Given the description of an element on the screen output the (x, y) to click on. 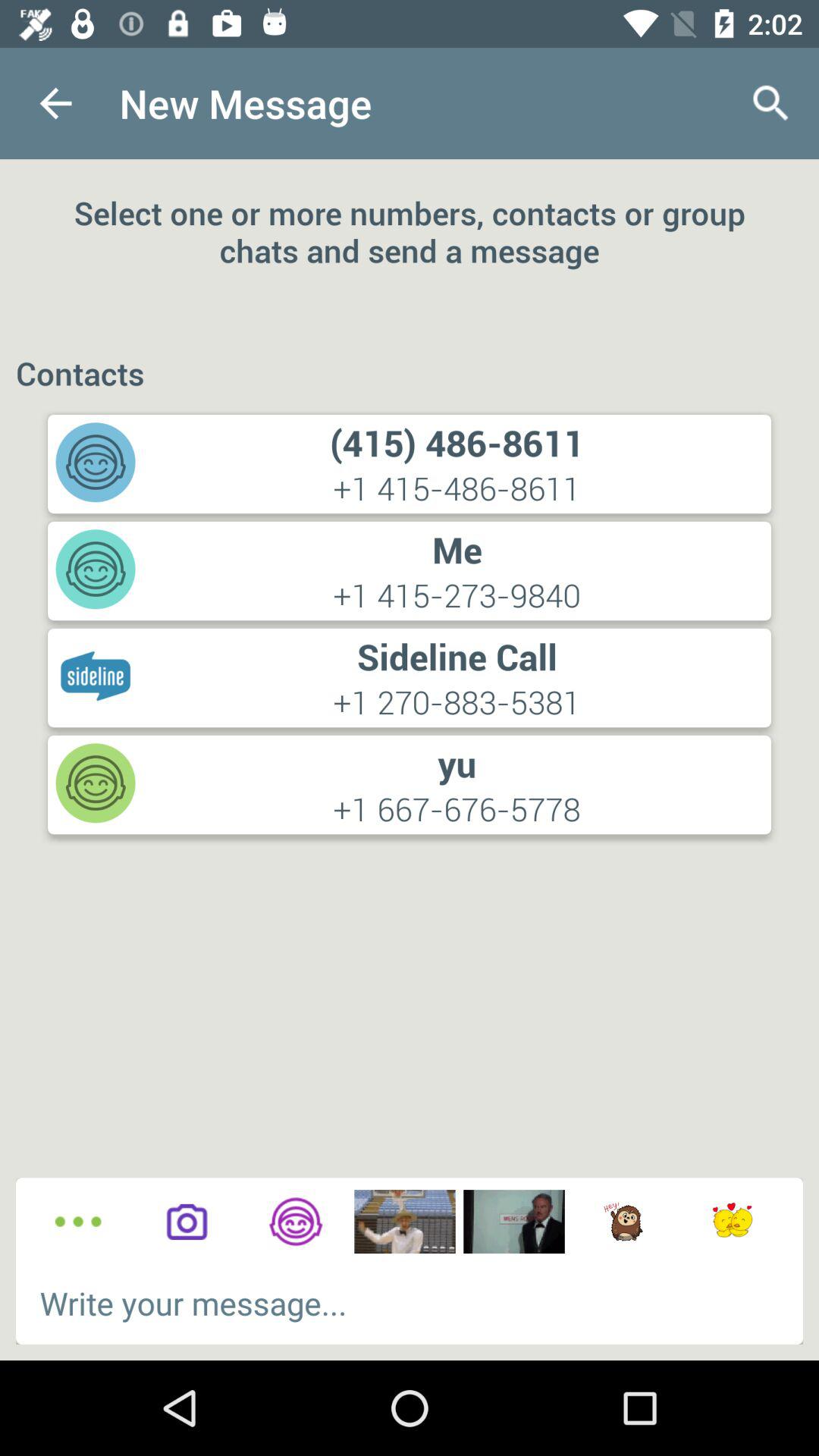
monkey emoticon (622, 1221)
